Given the description of an element on the screen output the (x, y) to click on. 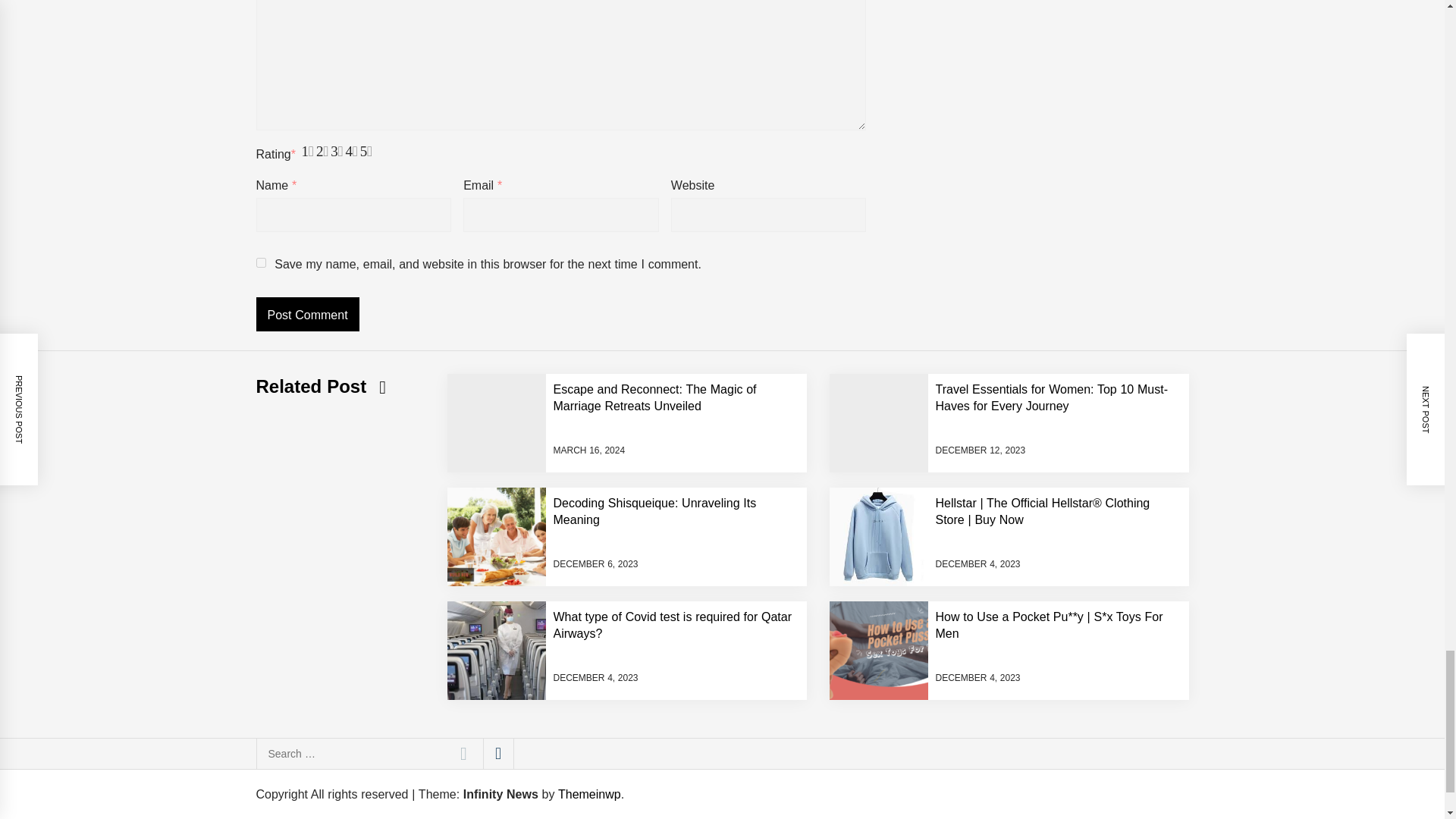
yes (261, 262)
Search (462, 753)
Search (462, 753)
Post Comment (307, 314)
